Given the description of an element on the screen output the (x, y) to click on. 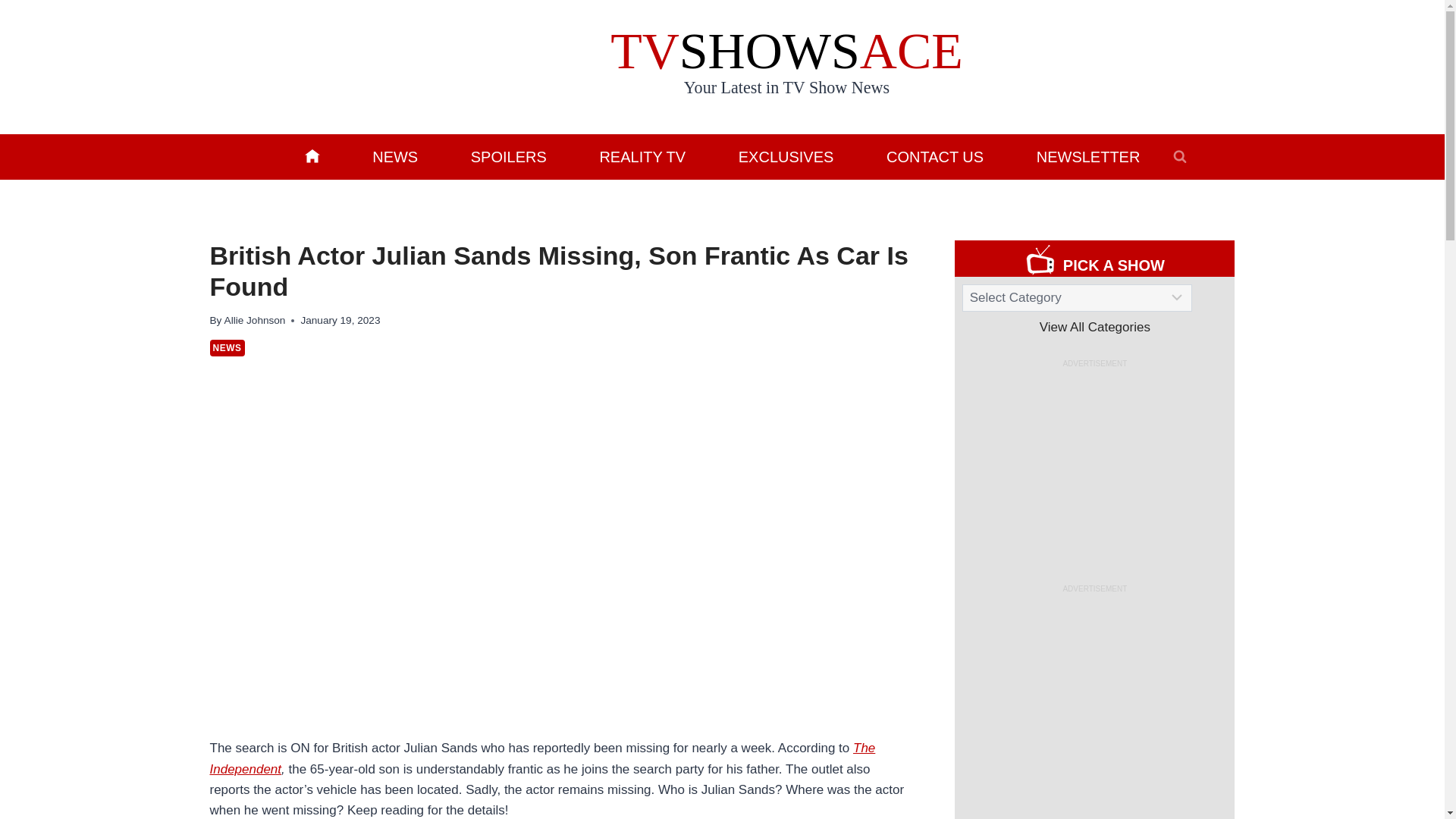
NEWS (395, 156)
REALITY TV (642, 156)
SPOILERS (508, 156)
Allie Johnson (254, 319)
CONTACT US (935, 156)
The Independent (542, 758)
NEWSLETTER (1088, 156)
EXCLUSIVES (785, 156)
NEWS (226, 347)
